Given the description of an element on the screen output the (x, y) to click on. 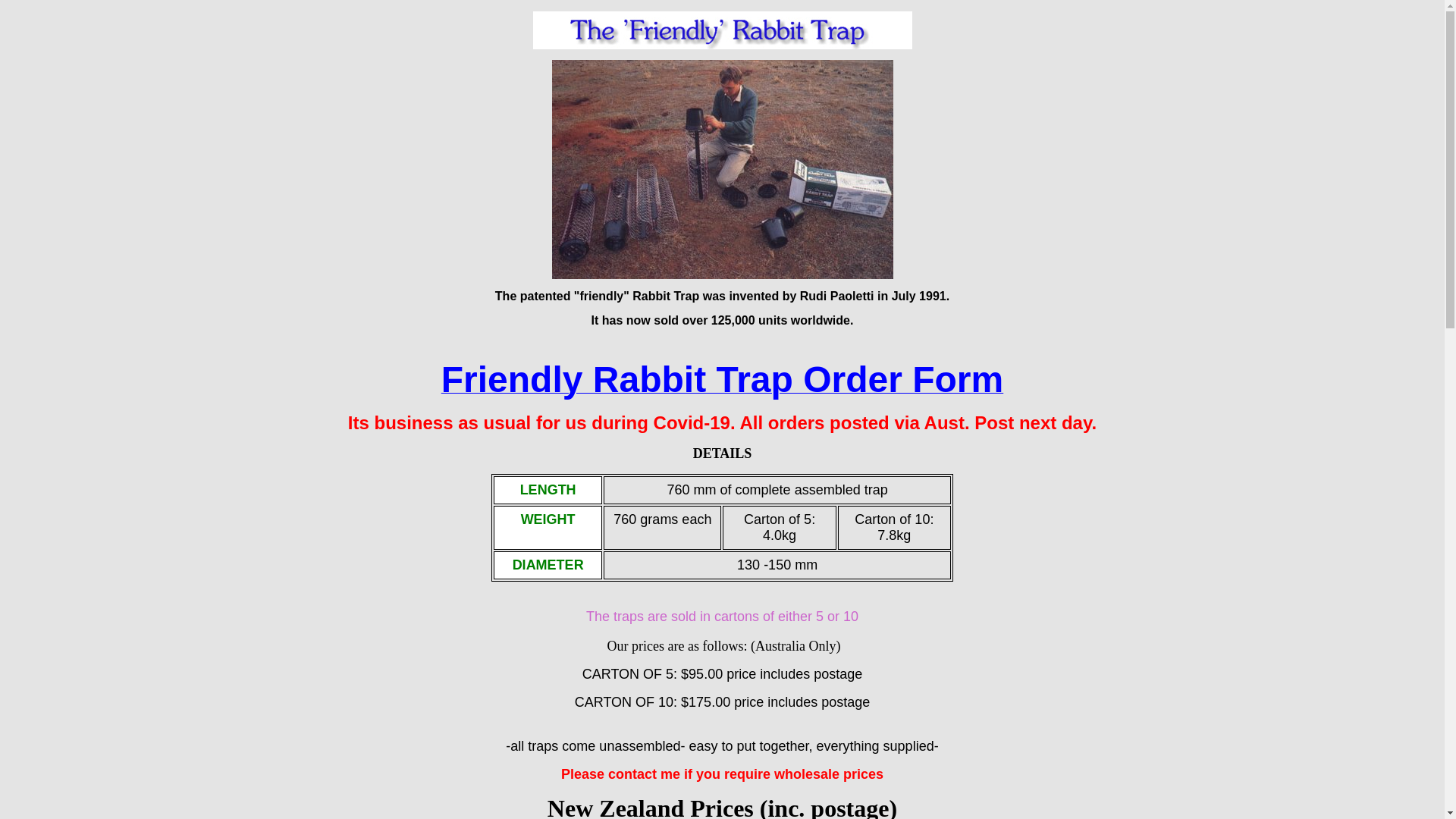
Friendly Rabbit Trap Order Form Element type: text (722, 387)
